Given the description of an element on the screen output the (x, y) to click on. 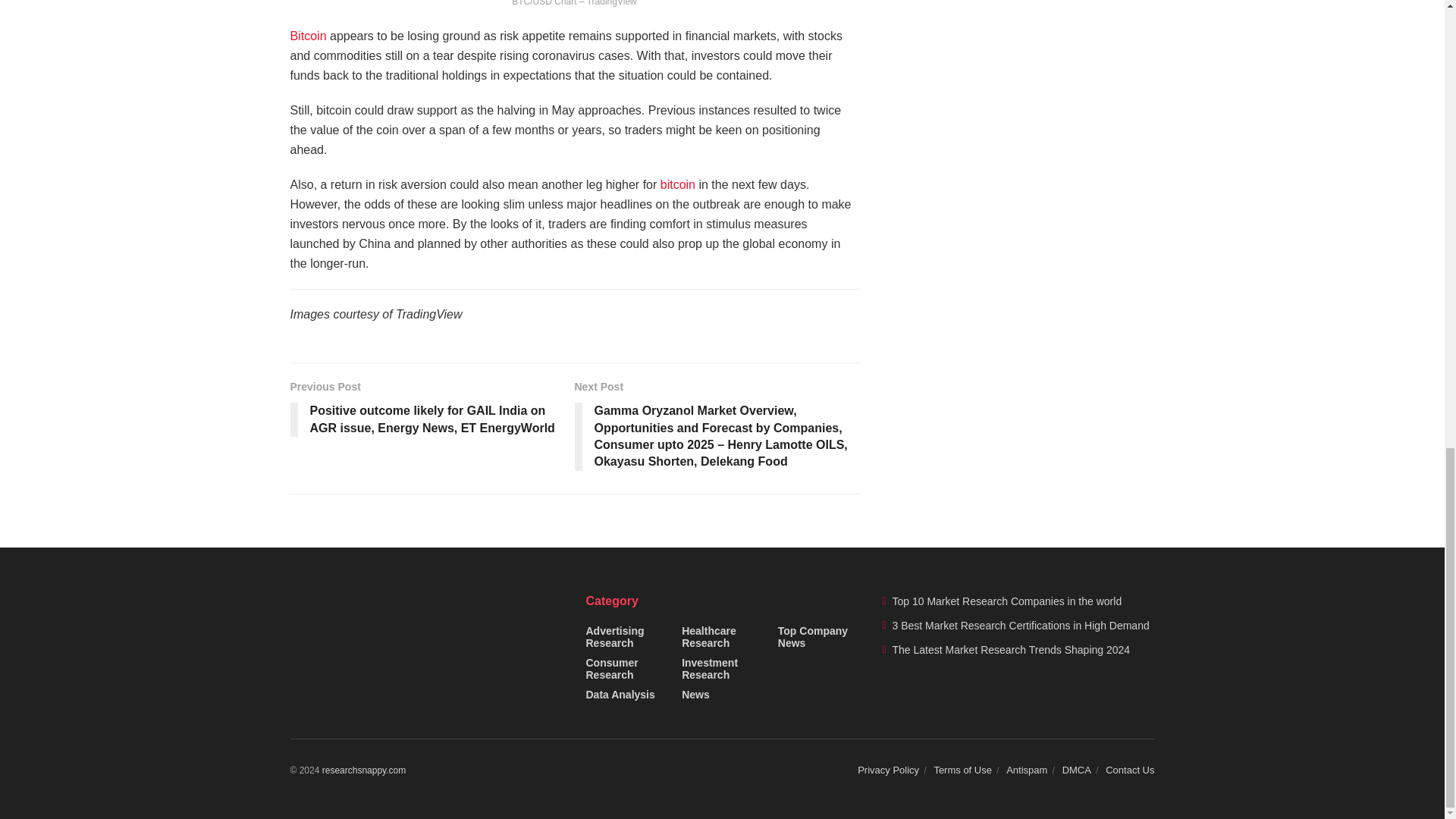
Bitcoin (307, 35)
Healthcare Research (721, 636)
bitcoin (678, 184)
Data Analysis (619, 694)
Investment Research (721, 668)
Advertising Research (625, 636)
Consumer Research (625, 668)
researchsnappy.com (363, 769)
